Given the description of an element on the screen output the (x, y) to click on. 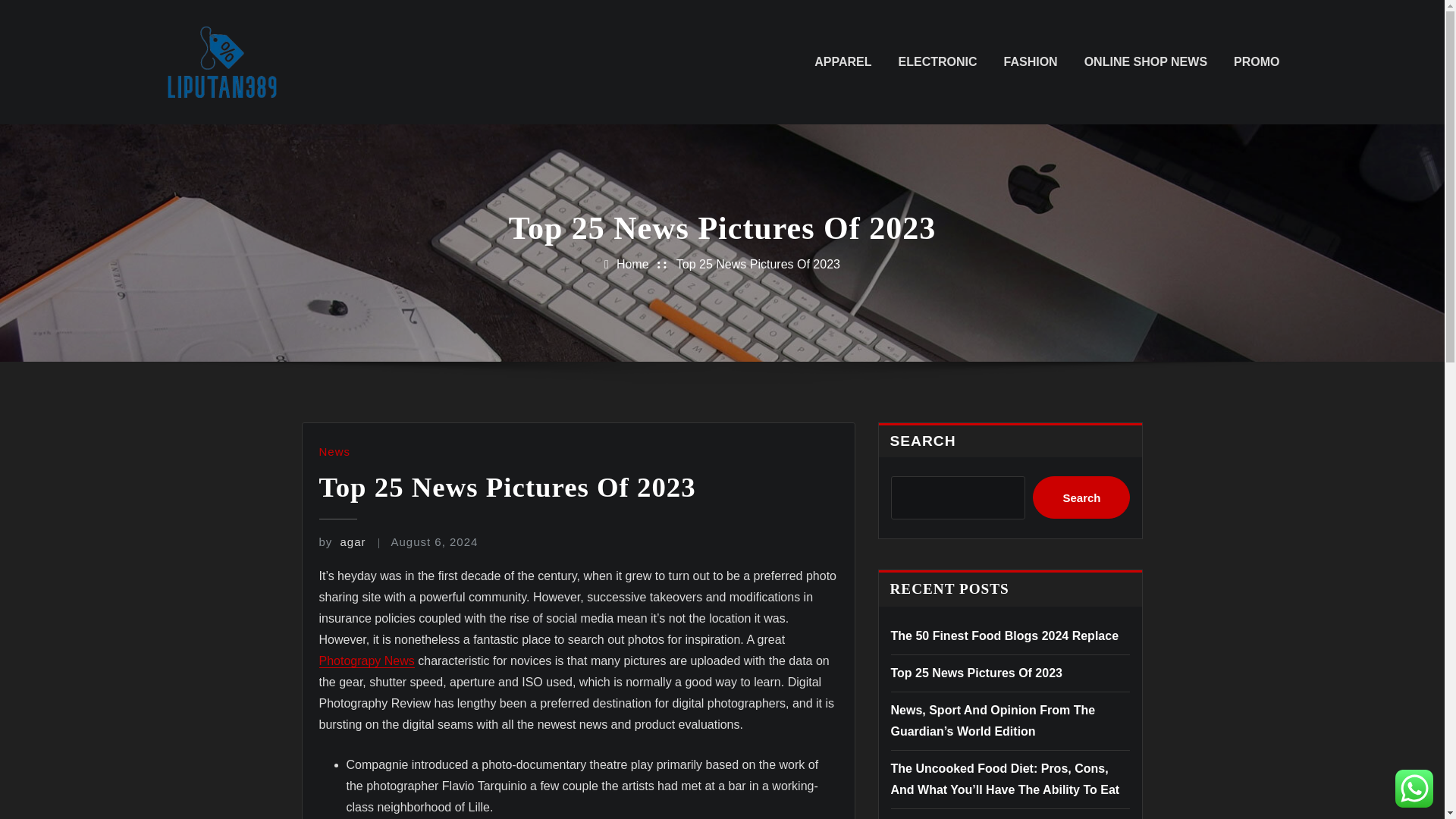
ELECTRONIC (937, 61)
Home (632, 264)
Top 25 News Pictures Of 2023 (975, 672)
News (334, 451)
The 50 Finest Food Blogs 2024 Replace (1003, 635)
PROMO (1256, 61)
APPAREL (841, 61)
FASHION (1031, 61)
Top 25 News Pictures Of 2023 (758, 264)
by agar (341, 541)
